Given the description of an element on the screen output the (x, y) to click on. 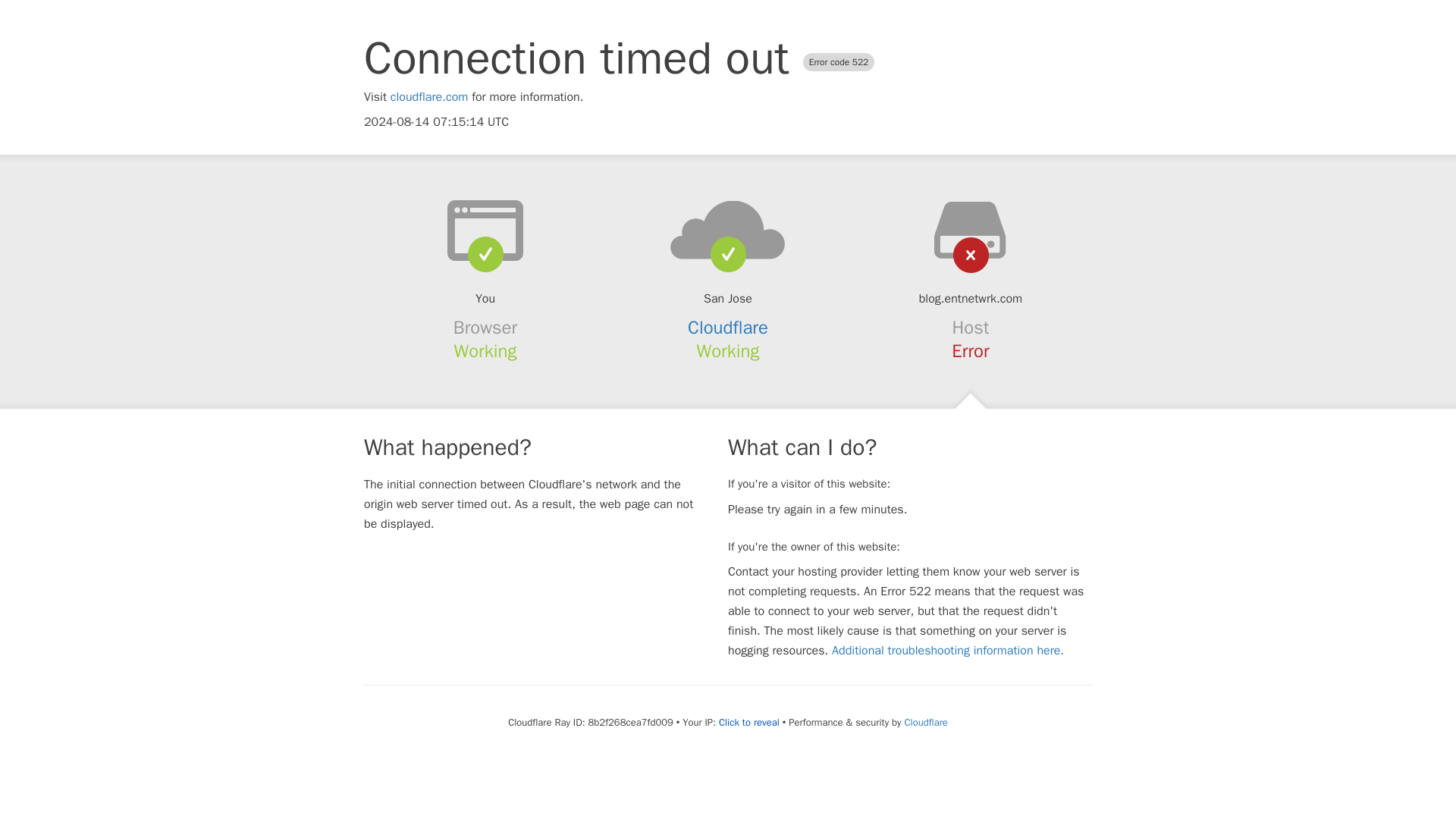
Additional troubleshooting information here. (947, 650)
Click to reveal (748, 722)
Cloudflare (925, 721)
cloudflare.com (429, 96)
Cloudflare (727, 327)
